Given the description of an element on the screen output the (x, y) to click on. 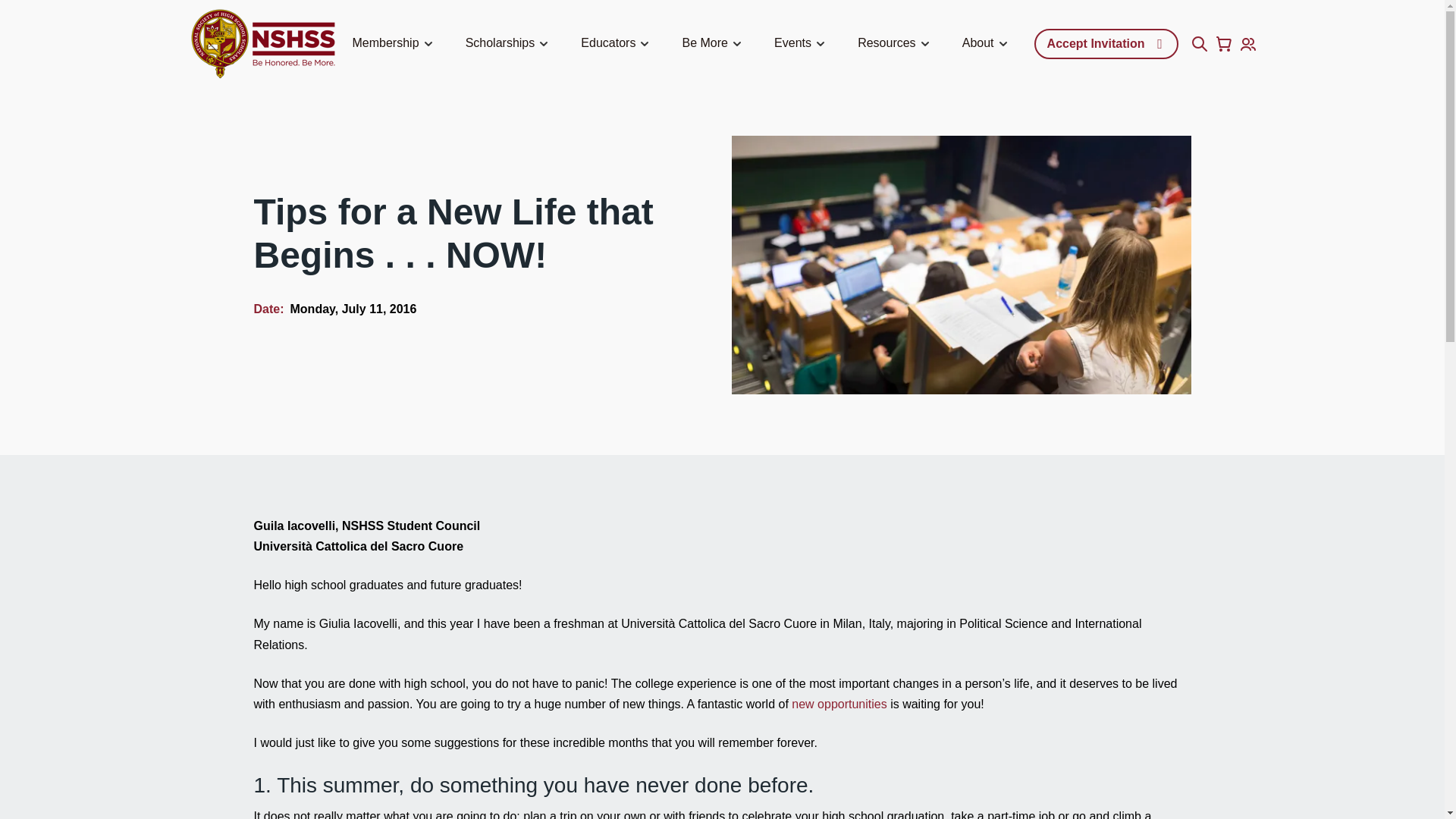
Search (1199, 44)
Membership (395, 43)
Educators (617, 43)
Be More (713, 43)
Member Login (1248, 44)
Scholarships (509, 43)
